Given the description of an element on the screen output the (x, y) to click on. 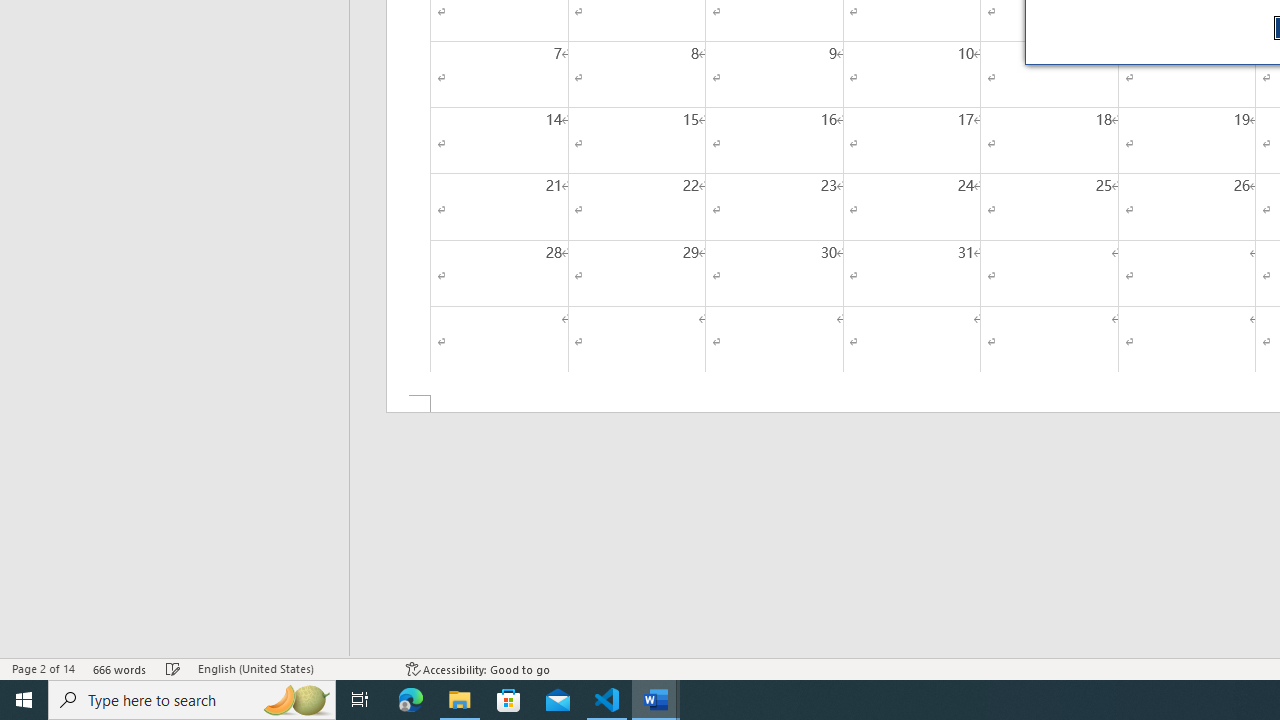
File Explorer - 1 running window (460, 699)
Page Number Page 2 of 14 (43, 668)
Task View (359, 699)
Microsoft Store (509, 699)
Start (24, 699)
Word Count 666 words (119, 668)
Visual Studio Code - 1 running window (607, 699)
Word - 2 running windows (656, 699)
Language English (United States) (292, 668)
Search highlights icon opens search home window (295, 699)
Type here to search (191, 699)
Microsoft Edge (411, 699)
Accessibility Checker Accessibility: Good to go (478, 668)
